Given the description of an element on the screen output the (x, y) to click on. 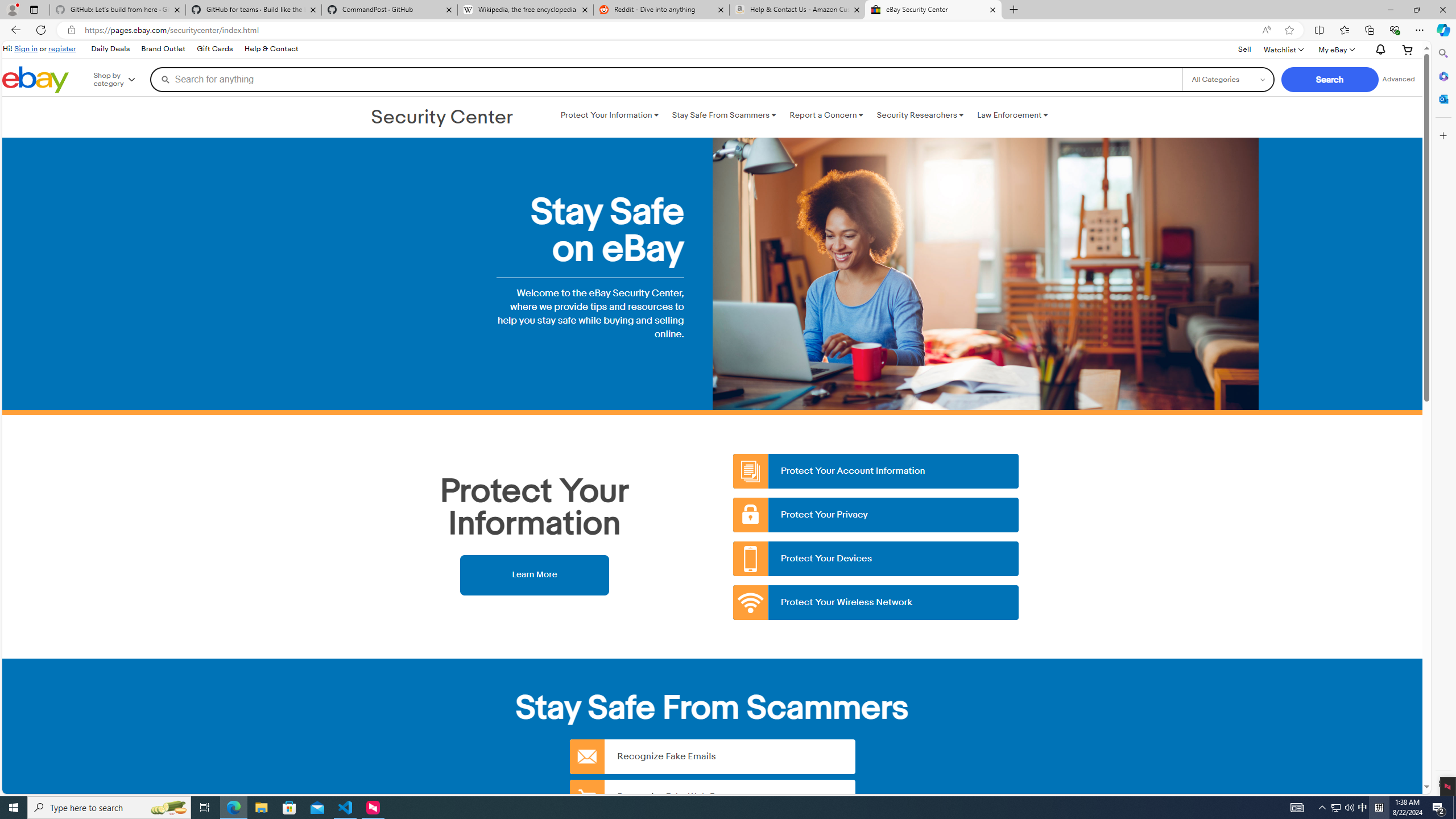
My eBay (1335, 49)
Security Researchers  (919, 115)
eBay Home (35, 79)
Brand Outlet (162, 49)
Select a category for search (1228, 78)
Daily Deals (109, 49)
AutomationID: gh-eb-Alerts (1378, 49)
Security Researchers  (919, 115)
Protect Your Devices (876, 558)
